Given the description of an element on the screen output the (x, y) to click on. 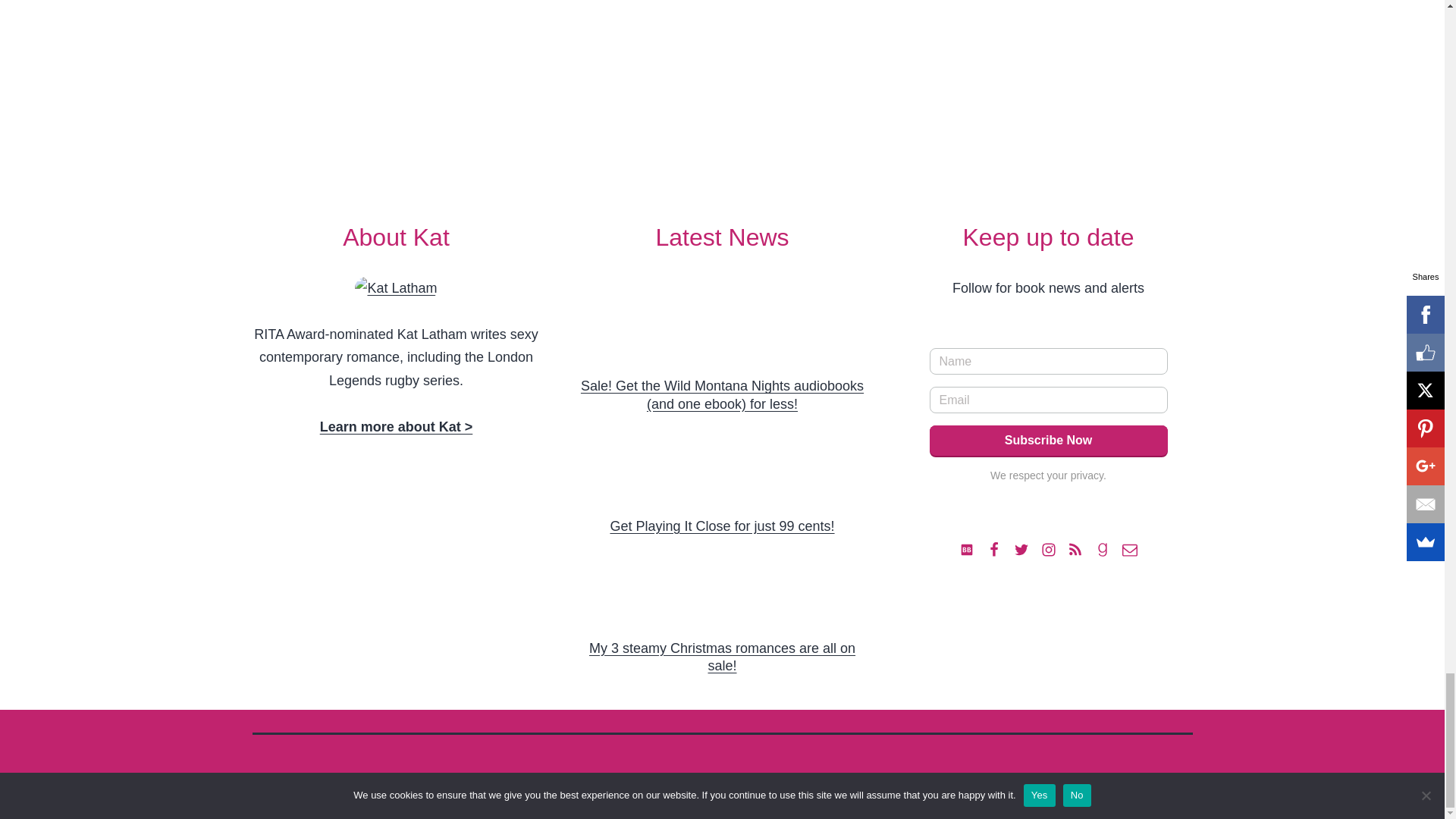
Subscribe Now (1048, 440)
